Given the description of an element on the screen output the (x, y) to click on. 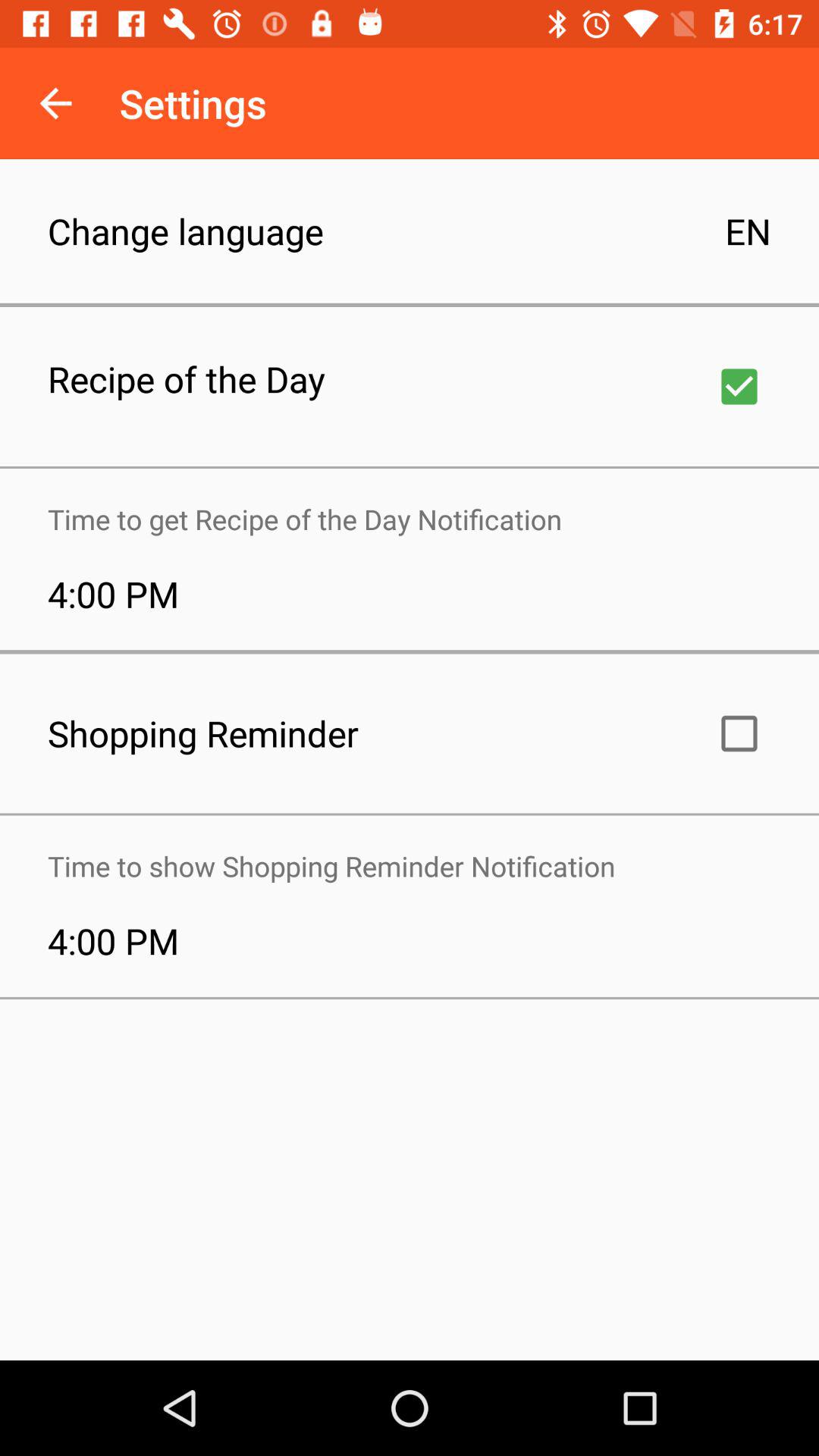
launch the icon next to the settings icon (55, 103)
